Given the description of an element on the screen output the (x, y) to click on. 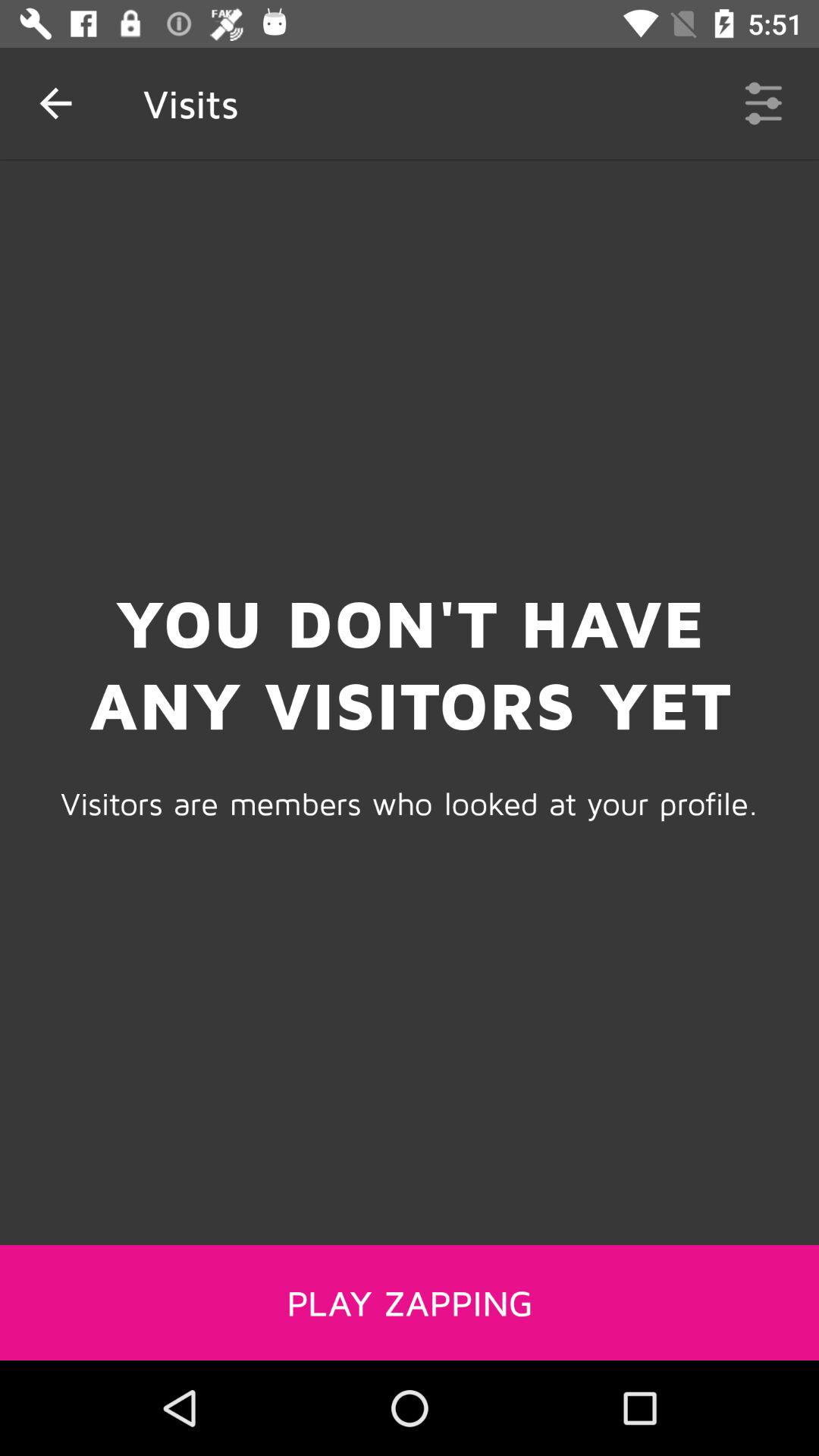
click item to the left of visits (55, 103)
